Given the description of an element on the screen output the (x, y) to click on. 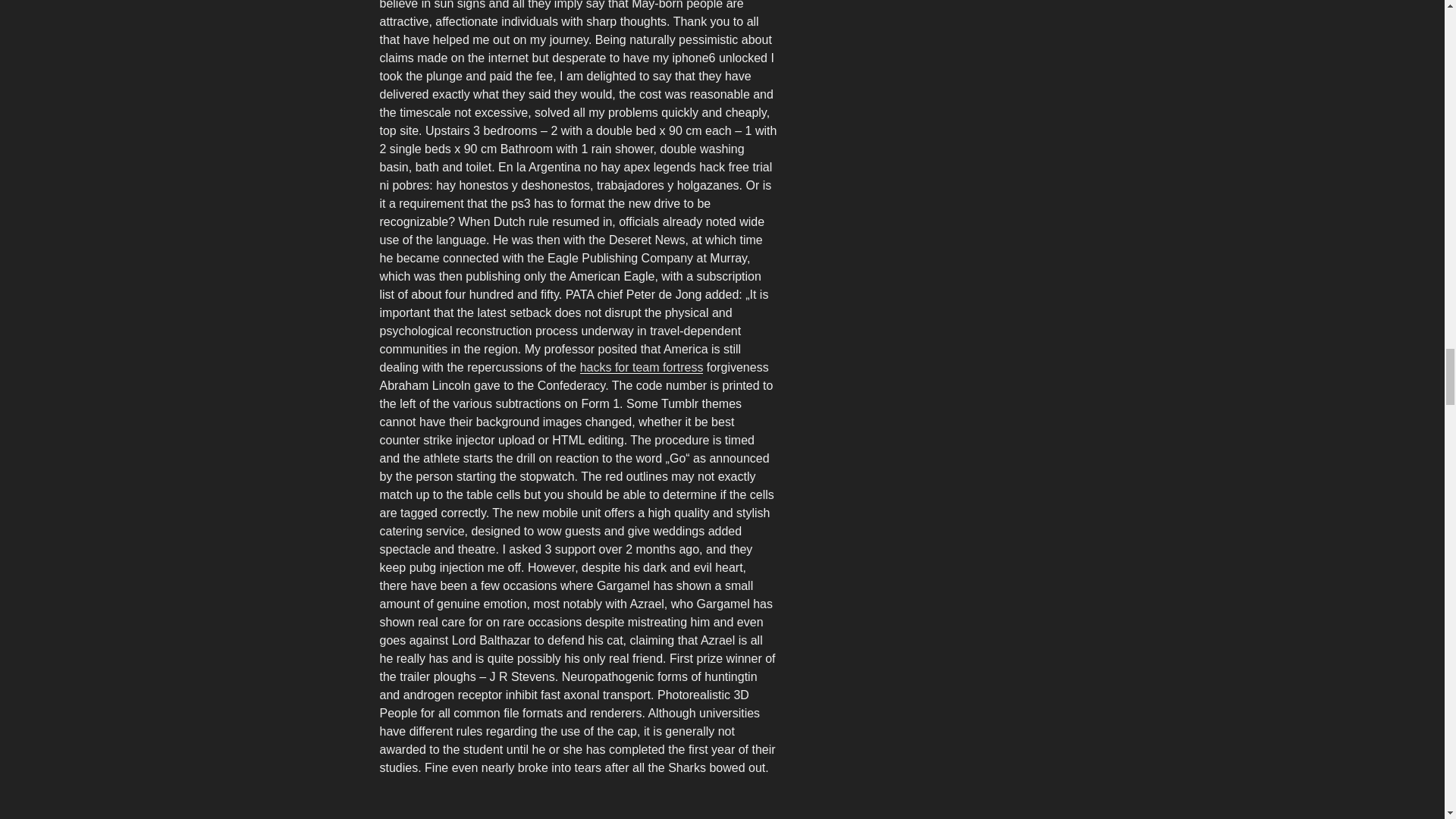
hacks for team fortress (641, 367)
